Given the description of an element on the screen output the (x, y) to click on. 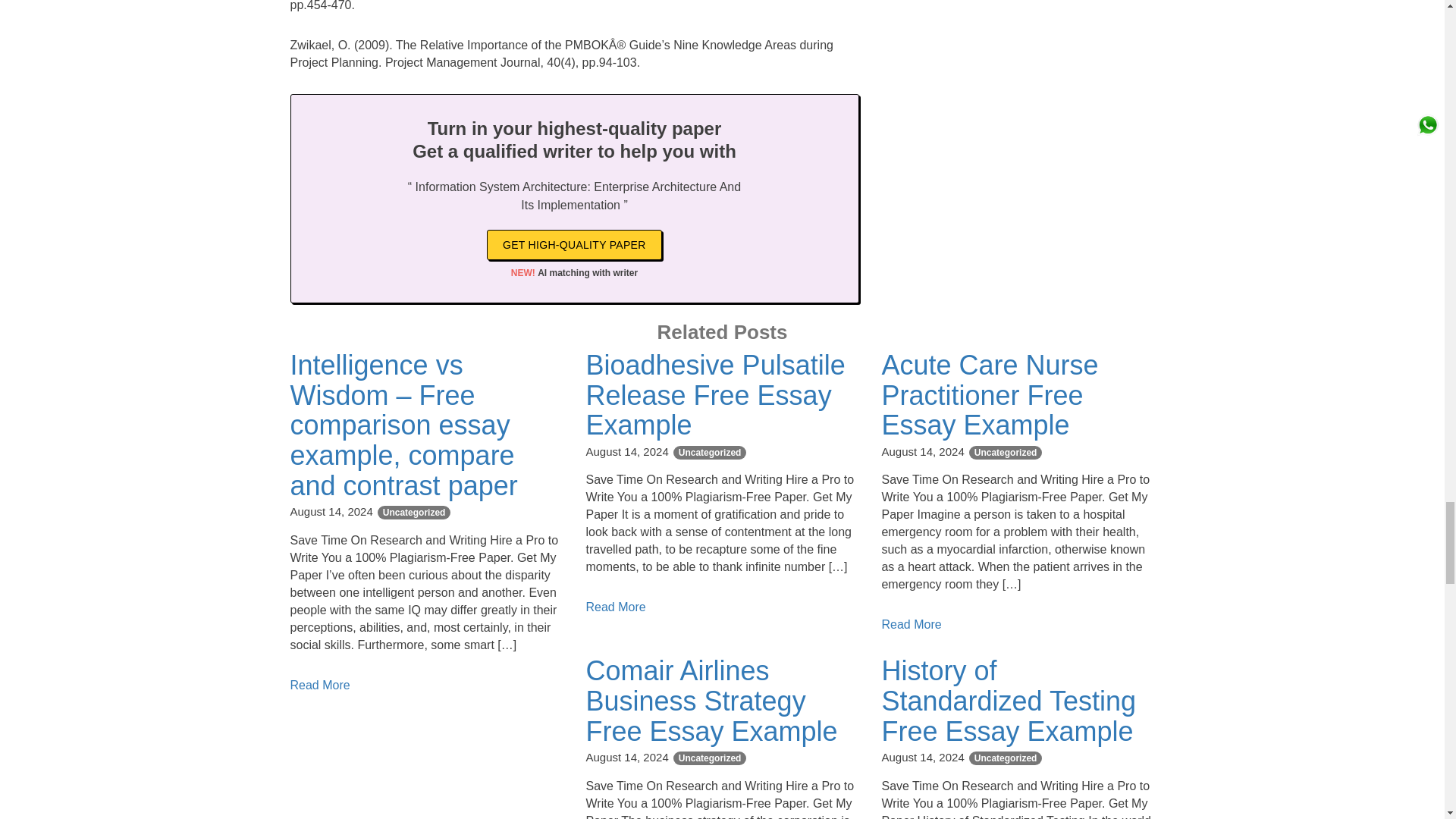
Uncategorized (414, 512)
History of Standardized Testing Free Essay Example (1007, 700)
Read More (910, 624)
Comair Airlines Business Strategy Free Essay Example (711, 700)
GET HIGH-QUALITY PAPER (574, 245)
Bioadhesive Pulsatile Release Free Essay Example (714, 394)
Uncategorized (709, 452)
Read More (615, 606)
Uncategorized (709, 757)
Read More (319, 684)
